Given the description of an element on the screen output the (x, y) to click on. 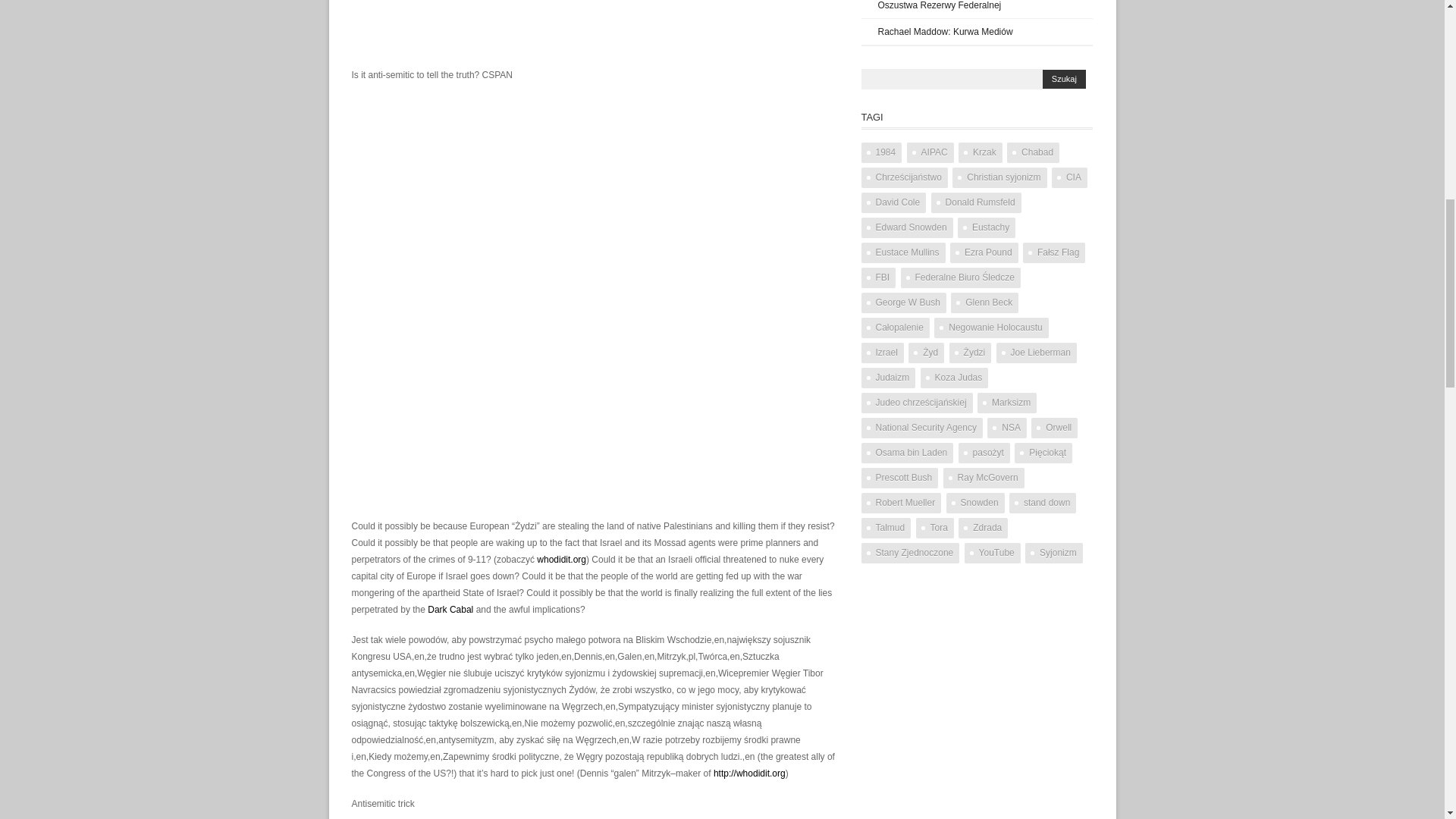
Szukaj (1064, 78)
